Given the description of an element on the screen output the (x, y) to click on. 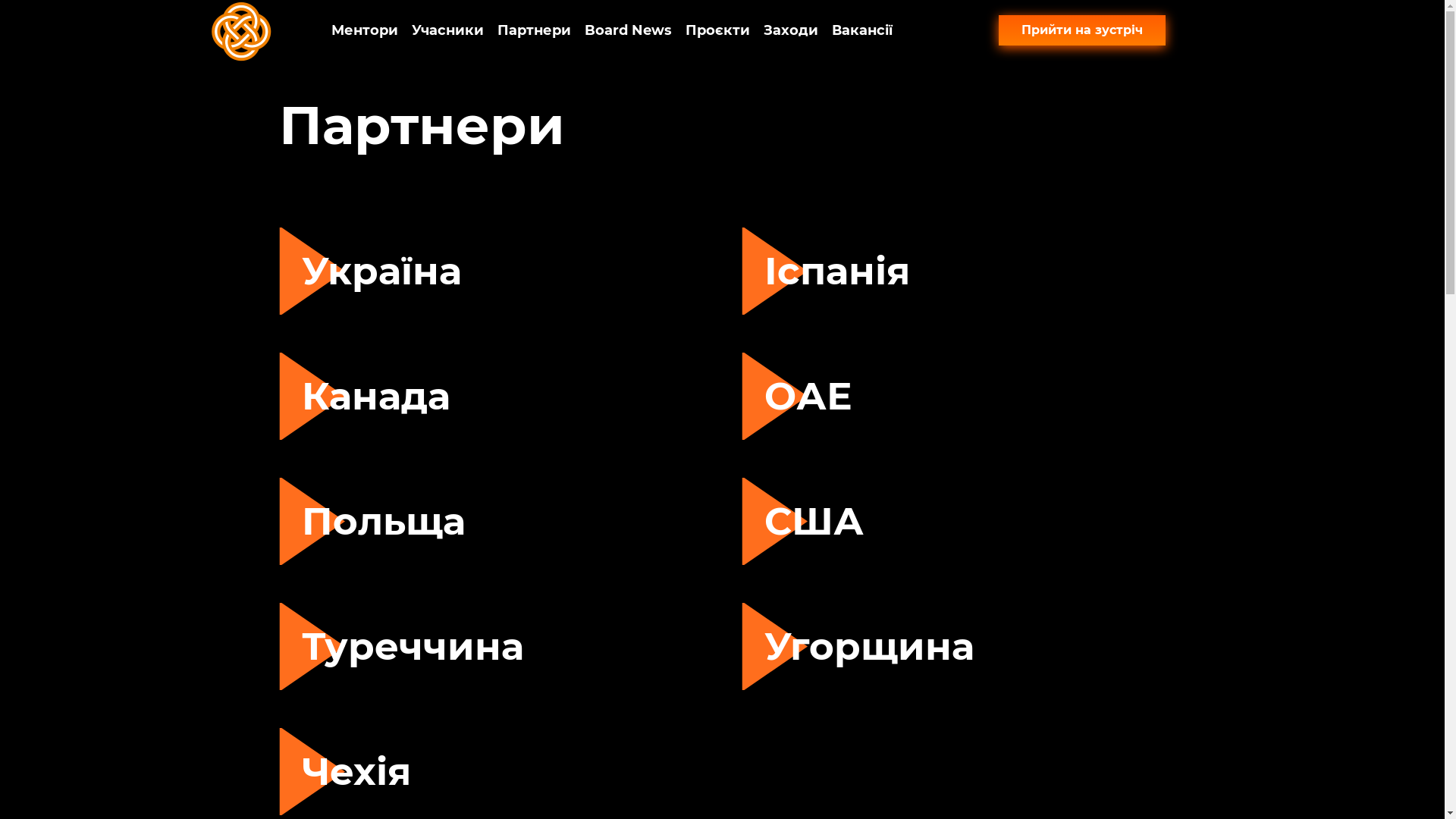
Board News Element type: text (627, 29)
